Given the description of an element on the screen output the (x, y) to click on. 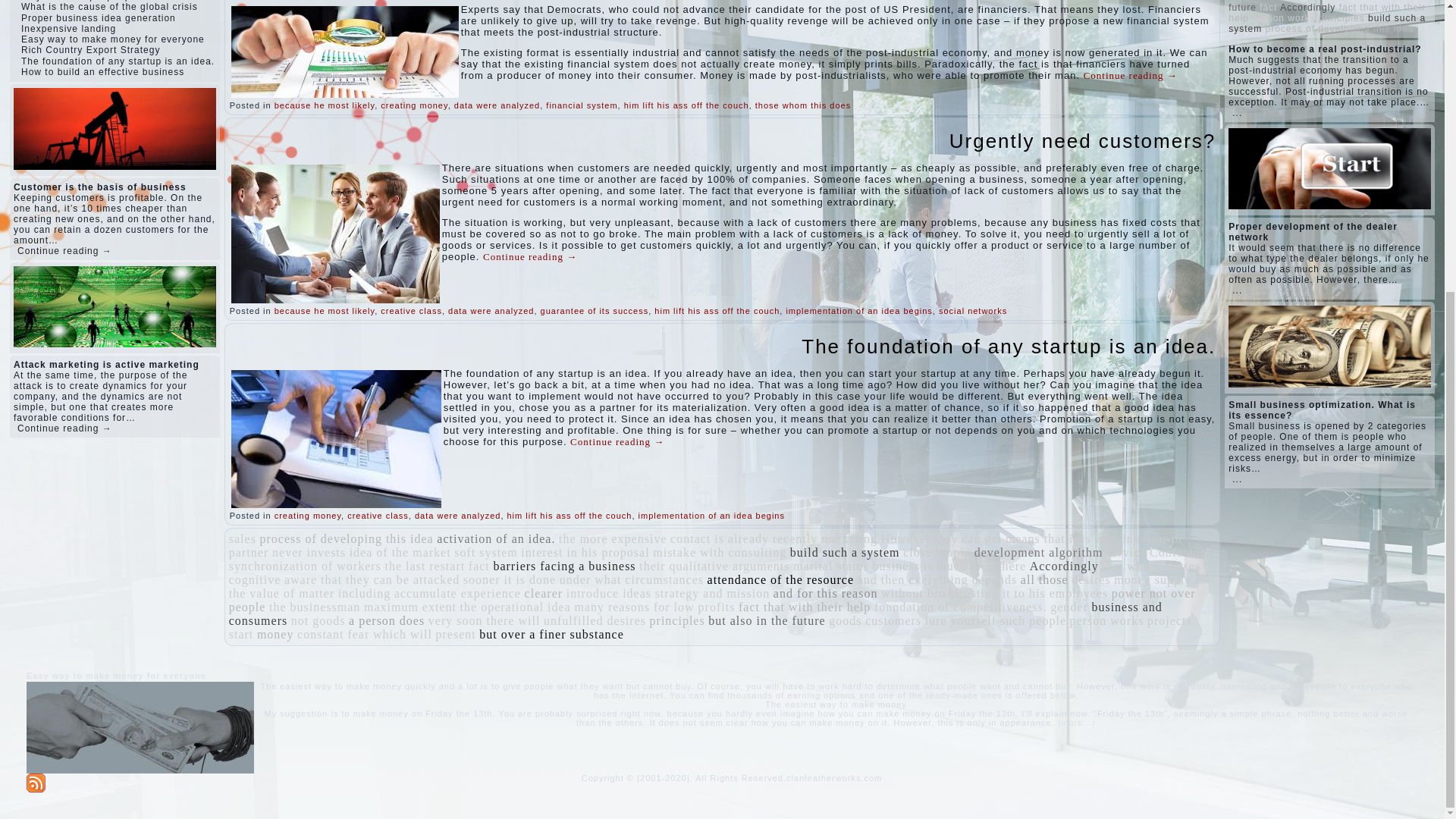
The foundation of any startup is an idea. (117, 61)
Why are most people poor? (86, 0)
Proper business idea generation (98, 18)
What is the cause of the global crisis (109, 6)
Rich Country Export Strategy (90, 50)
because he most likely (324, 104)
creating money (413, 104)
Inexpensive landing (68, 28)
How to build an effective business (102, 71)
Easy way to make money for everyone (113, 39)
